Given the description of an element on the screen output the (x, y) to click on. 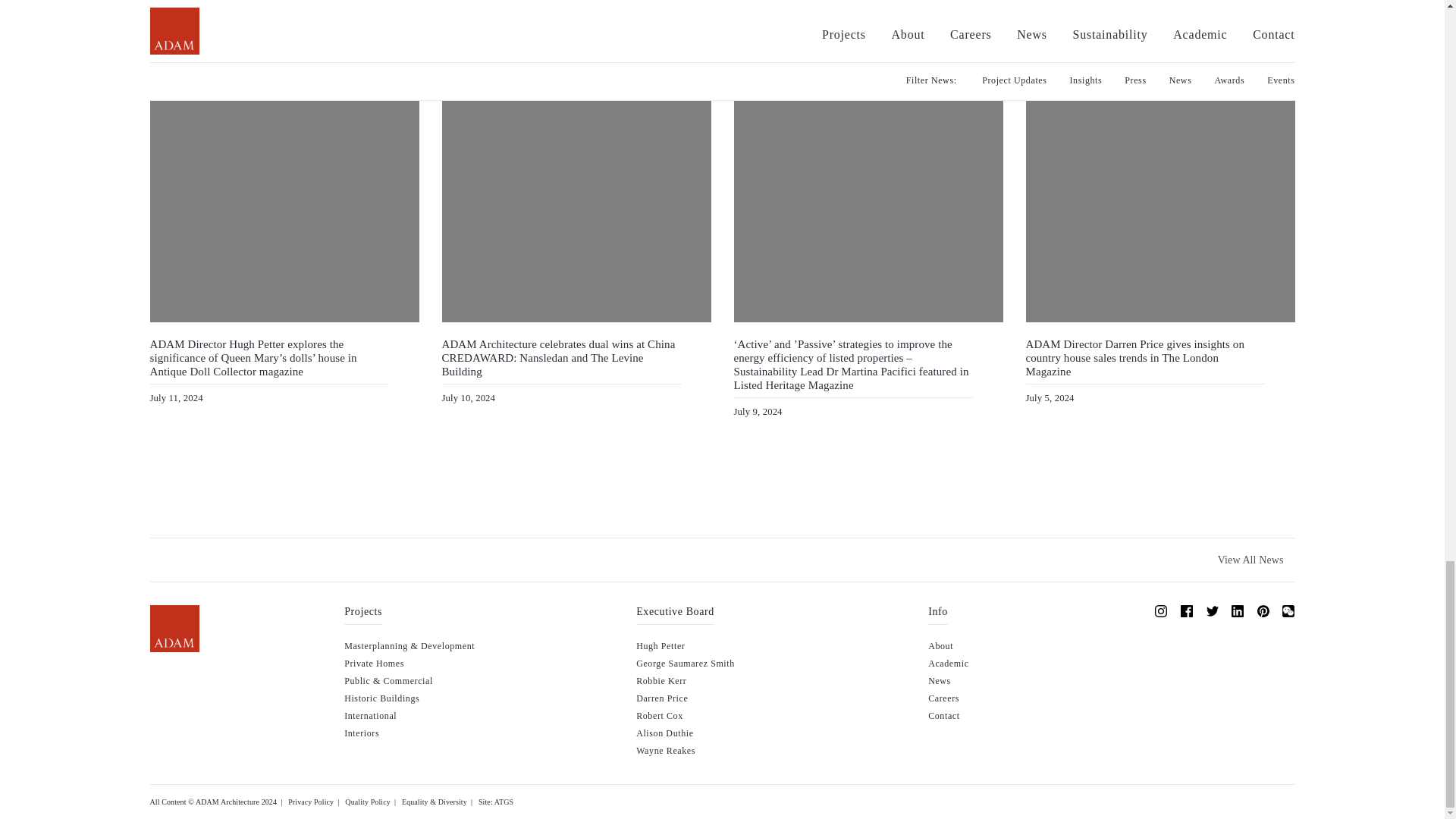
Interiors (360, 733)
Darren Price (661, 697)
Hugh Petter (660, 645)
George Saumarez Smith (685, 663)
Darren Price (661, 697)
George Saumarez Smith (685, 663)
Interiors (360, 733)
Robert Cox (659, 715)
